Given the description of an element on the screen output the (x, y) to click on. 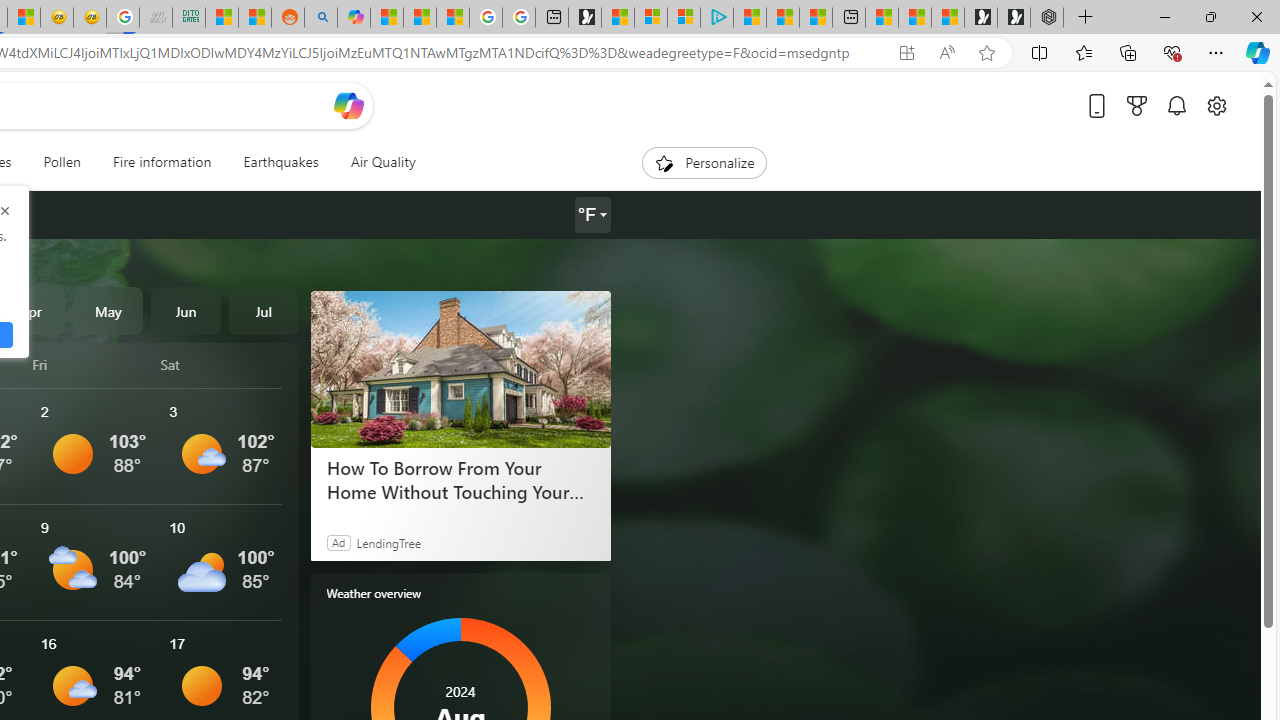
Fri (93, 363)
Open settings (1216, 105)
Fire information (161, 162)
How To Borrow From Your Home Without Touching Your Mortgage (459, 368)
Play Free Online Games | Games from Microsoft Start (1014, 17)
Microsoft rewards (1137, 105)
Personalize (703, 162)
